Given the description of an element on the screen output the (x, y) to click on. 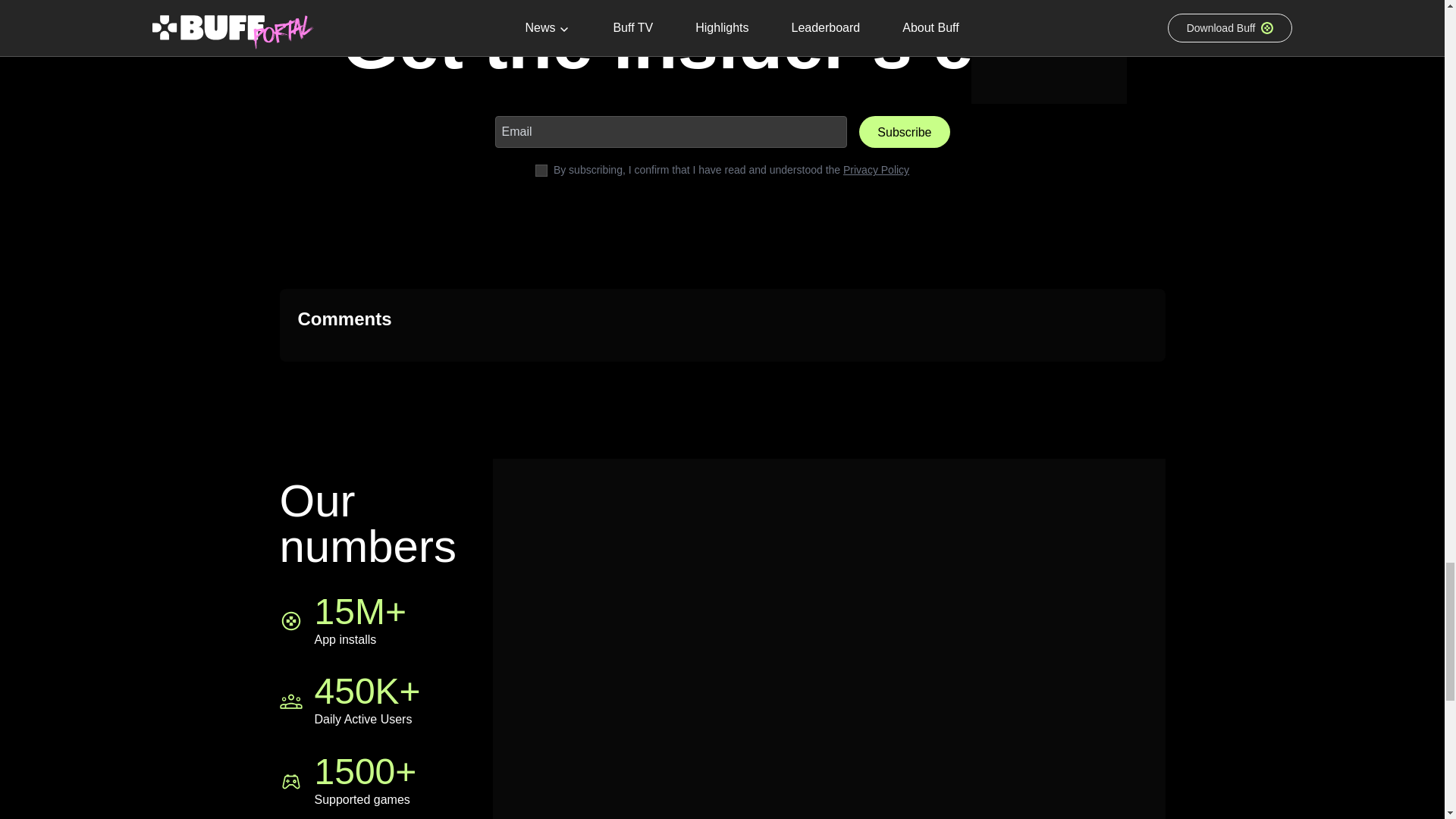
on (541, 168)
